Given the description of an element on the screen output the (x, y) to click on. 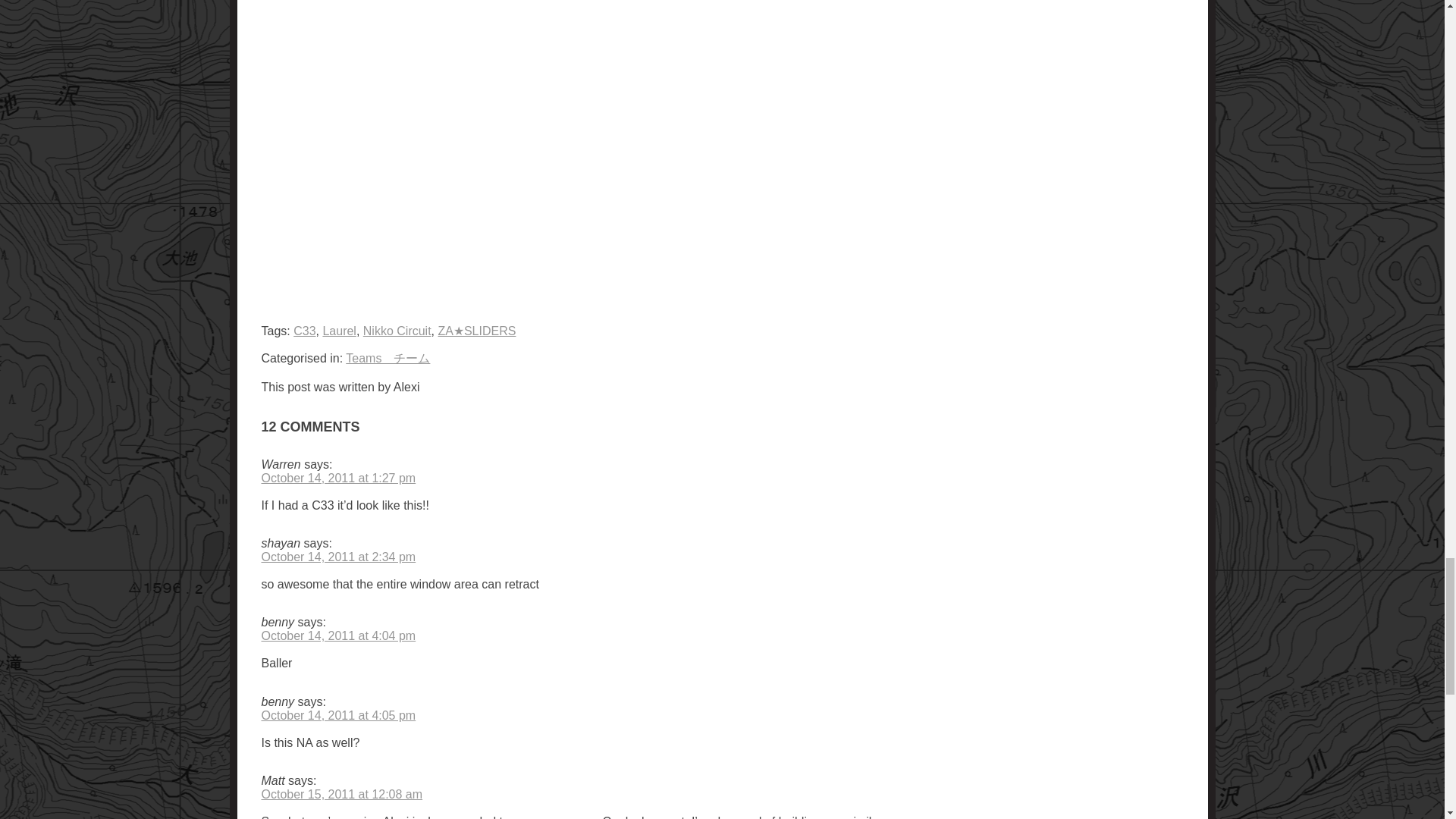
October 15, 2011 at 12:08 am (341, 793)
October 14, 2011 at 4:04 pm (337, 635)
October 14, 2011 at 2:34 pm (337, 556)
October 14, 2011 at 4:05 pm (337, 715)
C33 (304, 330)
Laurel (338, 330)
October 14, 2011 at 1:27 pm (337, 477)
Nikko Circuit (396, 330)
